Given the description of an element on the screen output the (x, y) to click on. 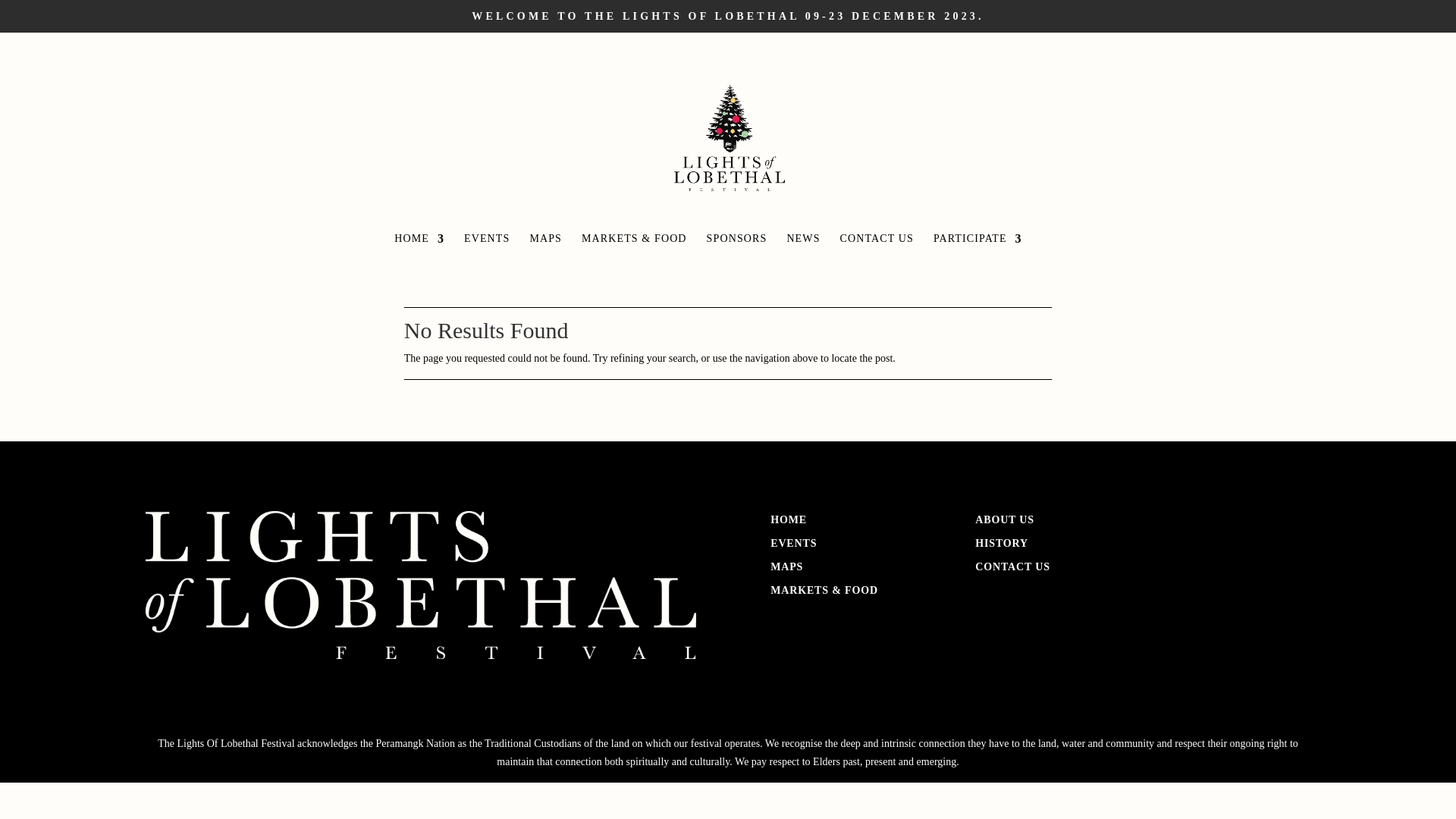
HOME Element type: text (788, 519)
MAPS Element type: text (545, 248)
NEWS Element type: text (802, 248)
MARKETS & FOOD Element type: text (634, 248)
ABOUT US Element type: text (1004, 519)
HISTORY Element type: text (1001, 543)
PARTICIPATE Element type: text (977, 248)
EVENTS Element type: text (486, 248)
HOME Element type: text (419, 248)
EVENTS Element type: text (793, 543)
CONTACT US Element type: text (1012, 566)
MAPS Element type: text (786, 566)
CONTACT US Element type: text (876, 248)
MARKETS & FOOD Element type: text (824, 590)
SPONSORS Element type: text (736, 248)
